Given the description of an element on the screen output the (x, y) to click on. 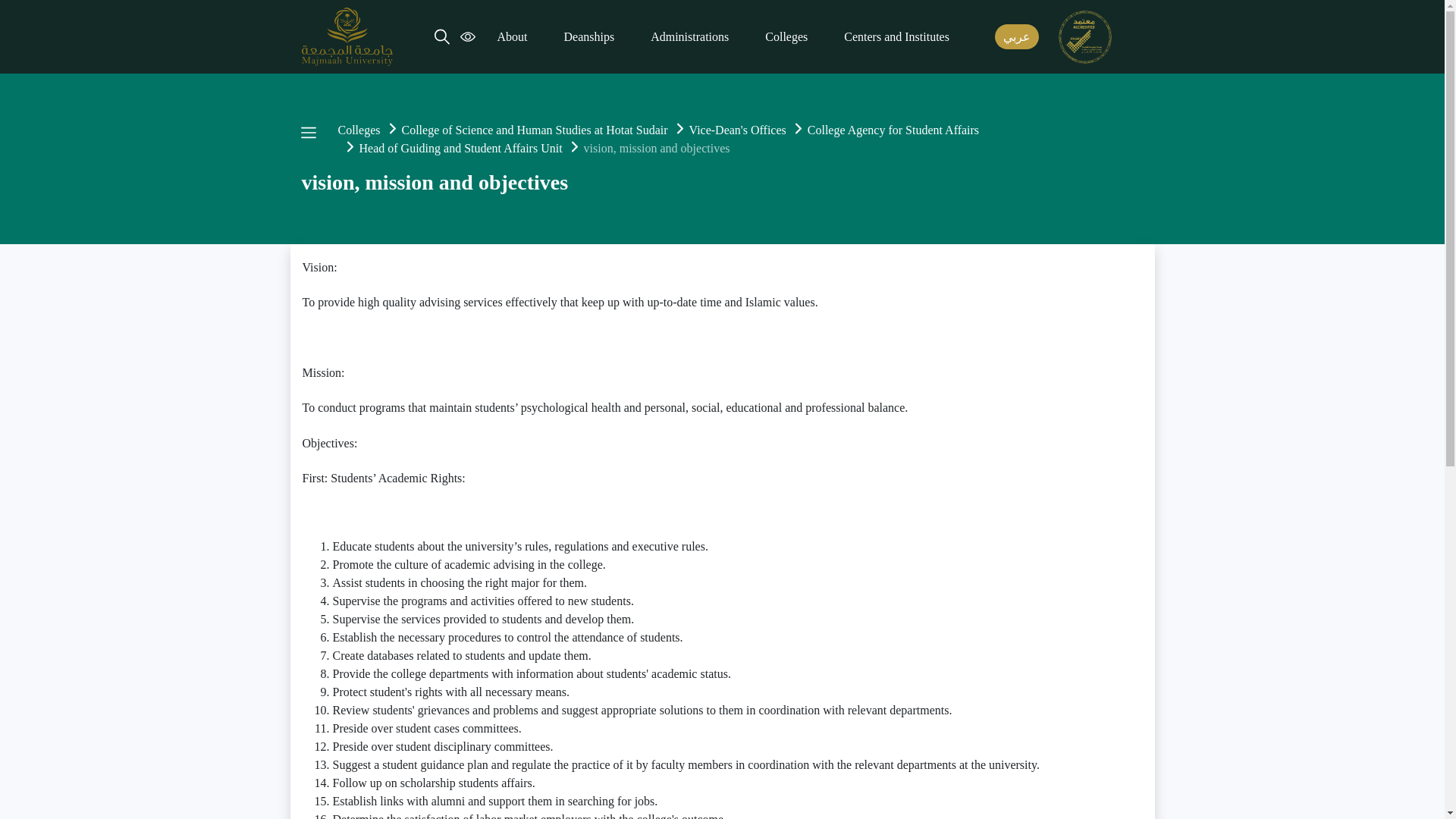
Colleges (785, 37)
About (512, 37)
Centers and Institutes (895, 37)
Administrations (690, 37)
Deanships (589, 37)
